Given the description of an element on the screen output the (x, y) to click on. 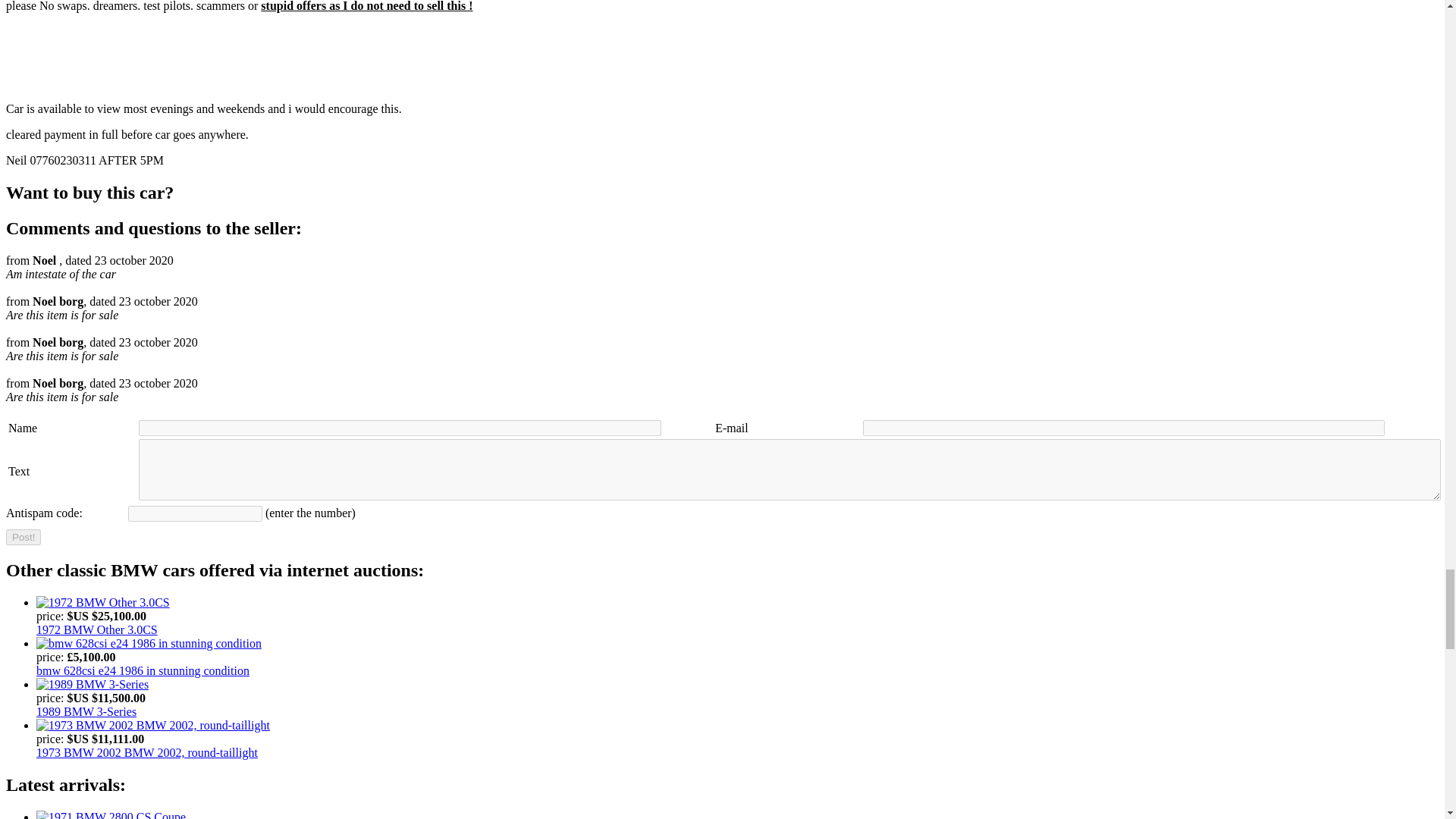
Post! (22, 537)
Name (399, 427)
Email (1123, 427)
Anrtispam code (195, 513)
